Given the description of an element on the screen output the (x, y) to click on. 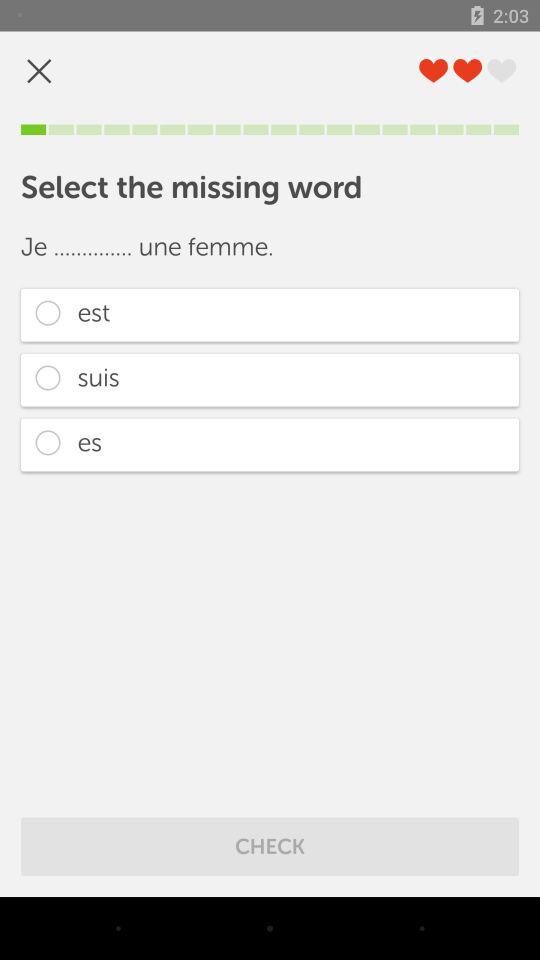
scroll to est icon (270, 314)
